Given the description of an element on the screen output the (x, y) to click on. 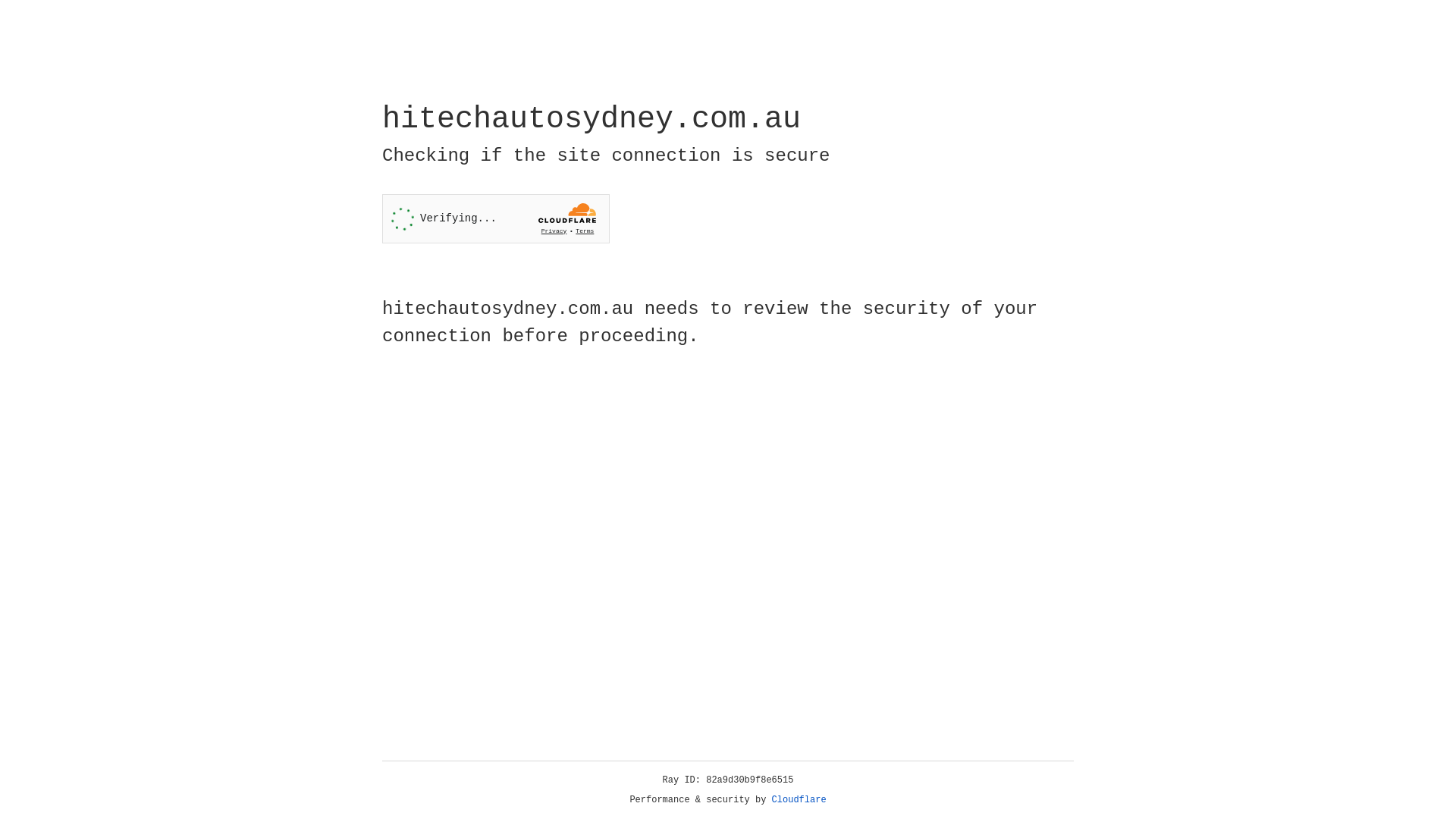
Cloudflare Element type: text (798, 799)
Widget containing a Cloudflare security challenge Element type: hover (495, 218)
